Given the description of an element on the screen output the (x, y) to click on. 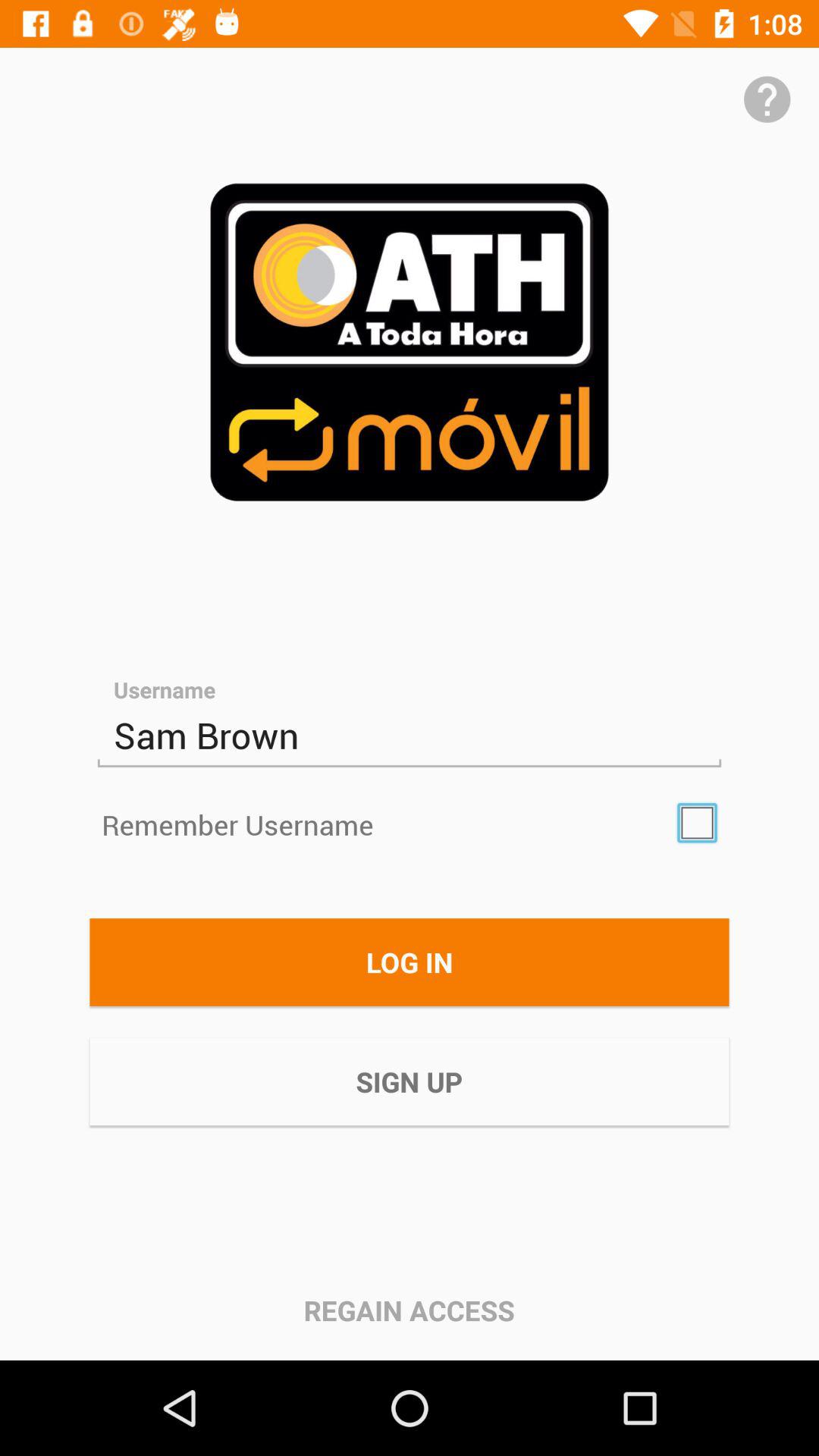
get help (767, 99)
